Given the description of an element on the screen output the (x, y) to click on. 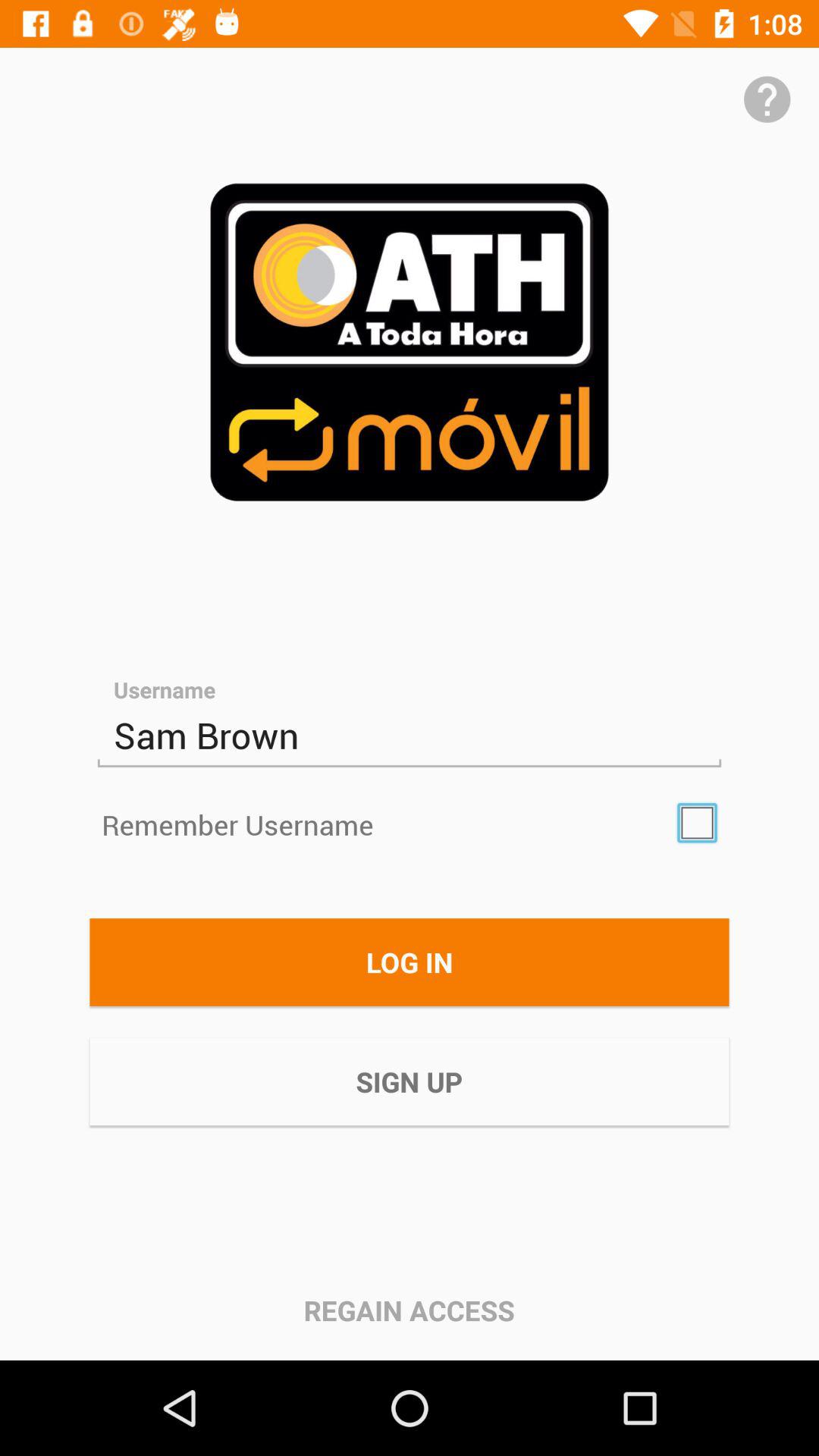
get help (767, 99)
